Given the description of an element on the screen output the (x, y) to click on. 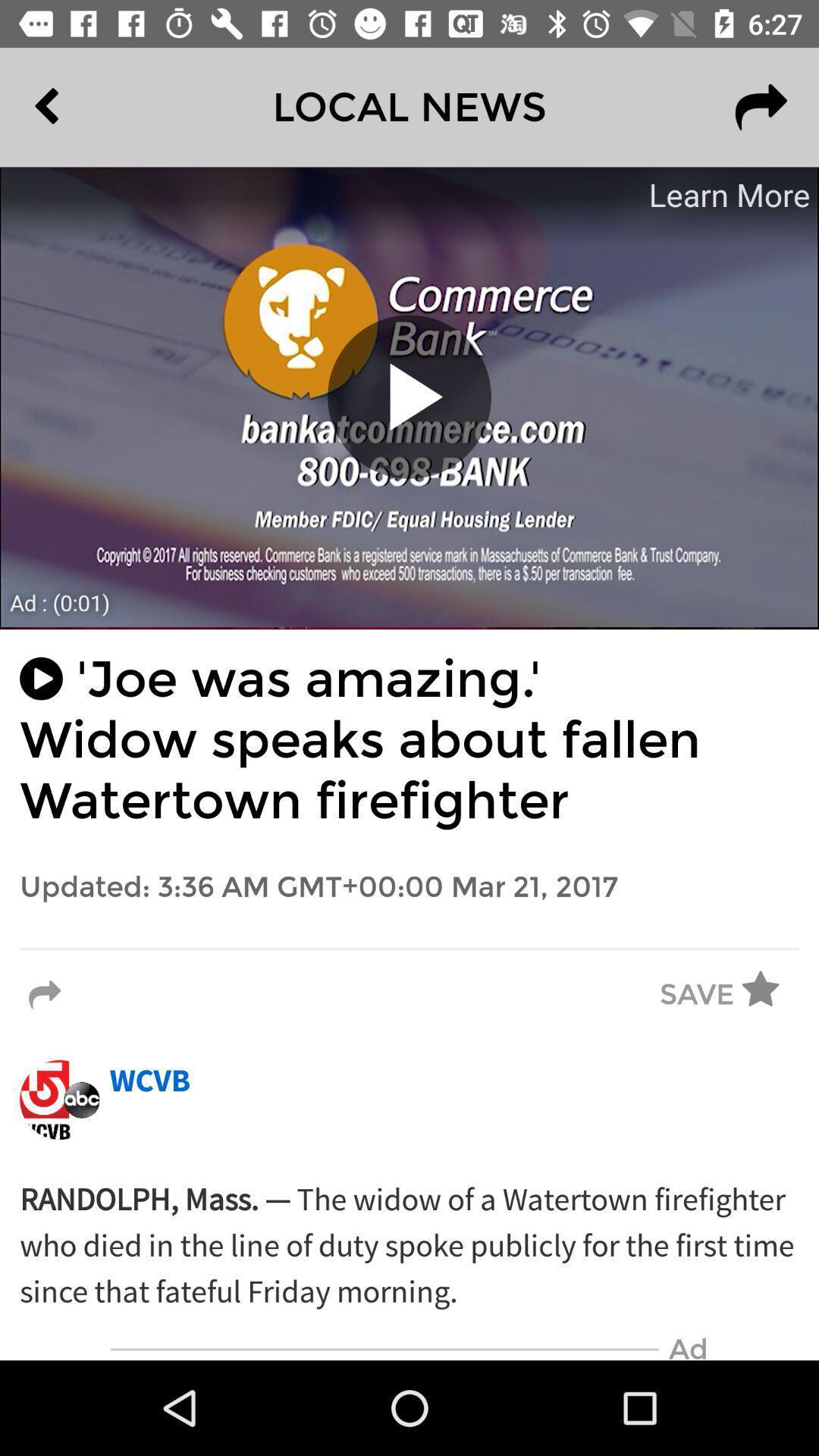
go to advertising partner (409, 397)
